Given the description of an element on the screen output the (x, y) to click on. 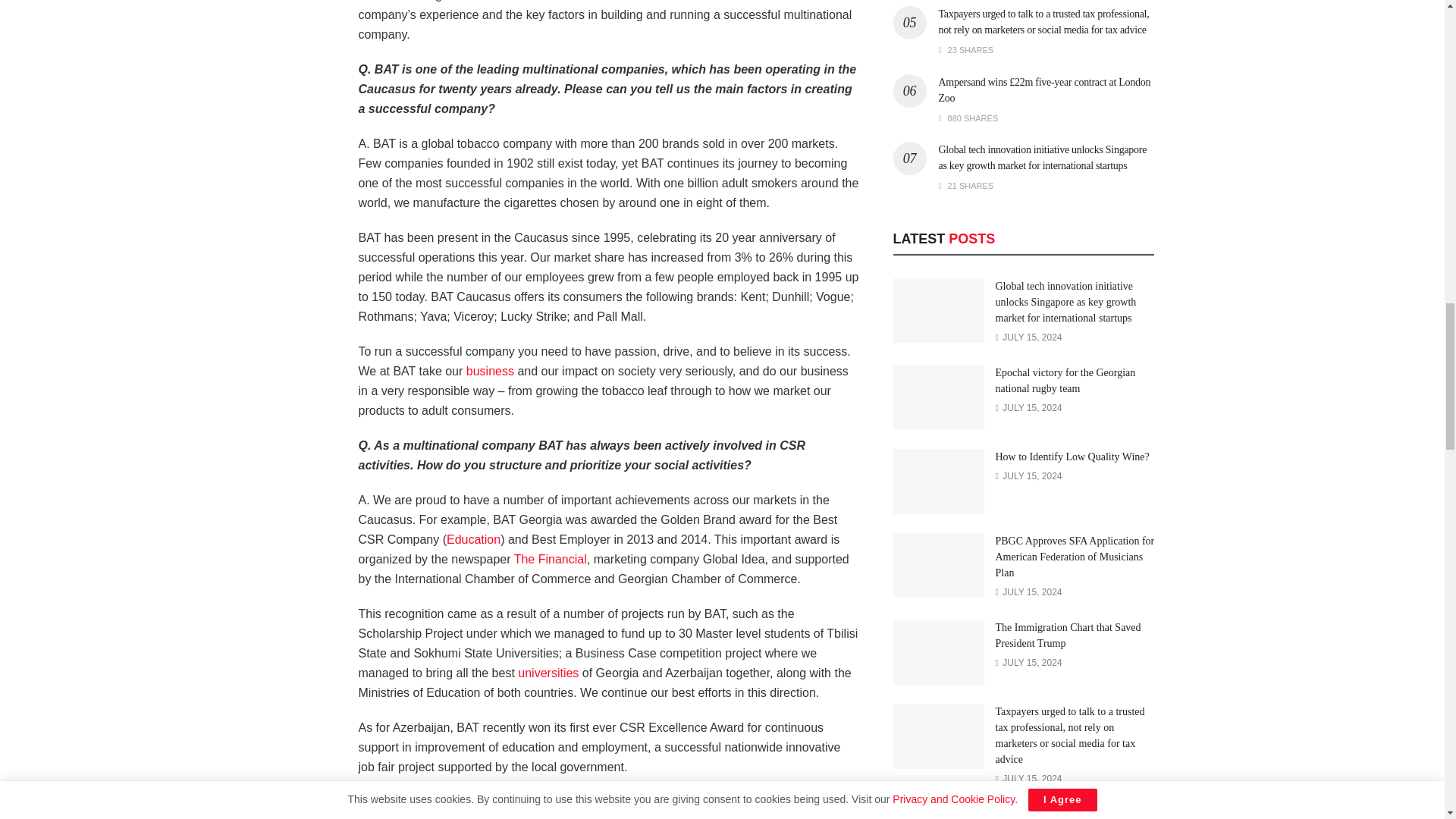
School (548, 672)
The FINANCIAL (549, 558)
Business (489, 370)
School (473, 539)
